Given the description of an element on the screen output the (x, y) to click on. 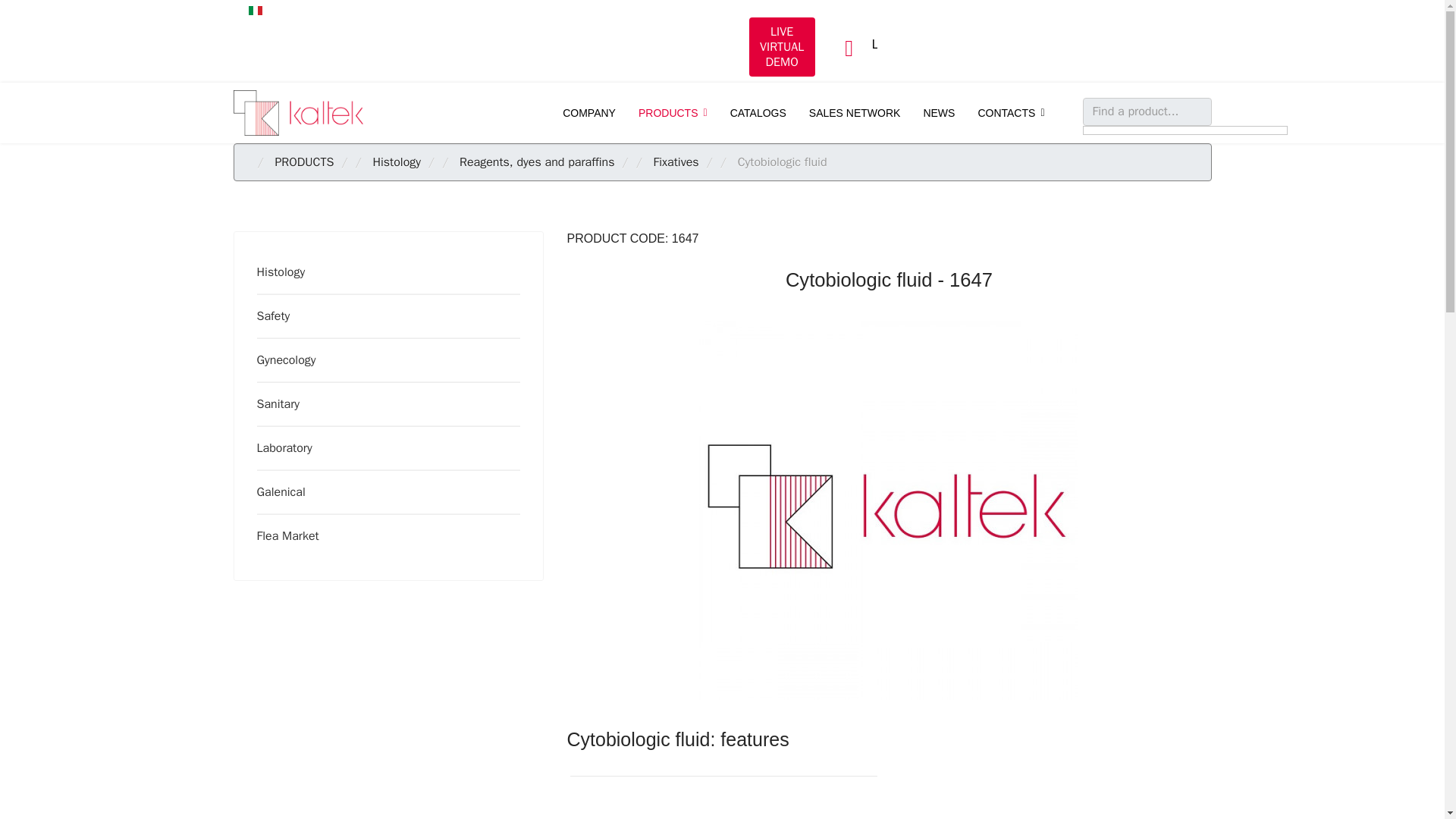
LIVE VIRTUAL DEMO (782, 46)
CONTACTS (1010, 112)
Fixatives (675, 161)
CATALOGS (758, 112)
Histology (396, 161)
PRODUCTS (673, 112)
SALES NETWORK (854, 112)
LOGIN (891, 43)
COMPANY (589, 112)
NEWS (938, 112)
PRODUCTS (304, 161)
Histology (384, 272)
Reagents, dyes and paraffins (537, 161)
